Given the description of an element on the screen output the (x, y) to click on. 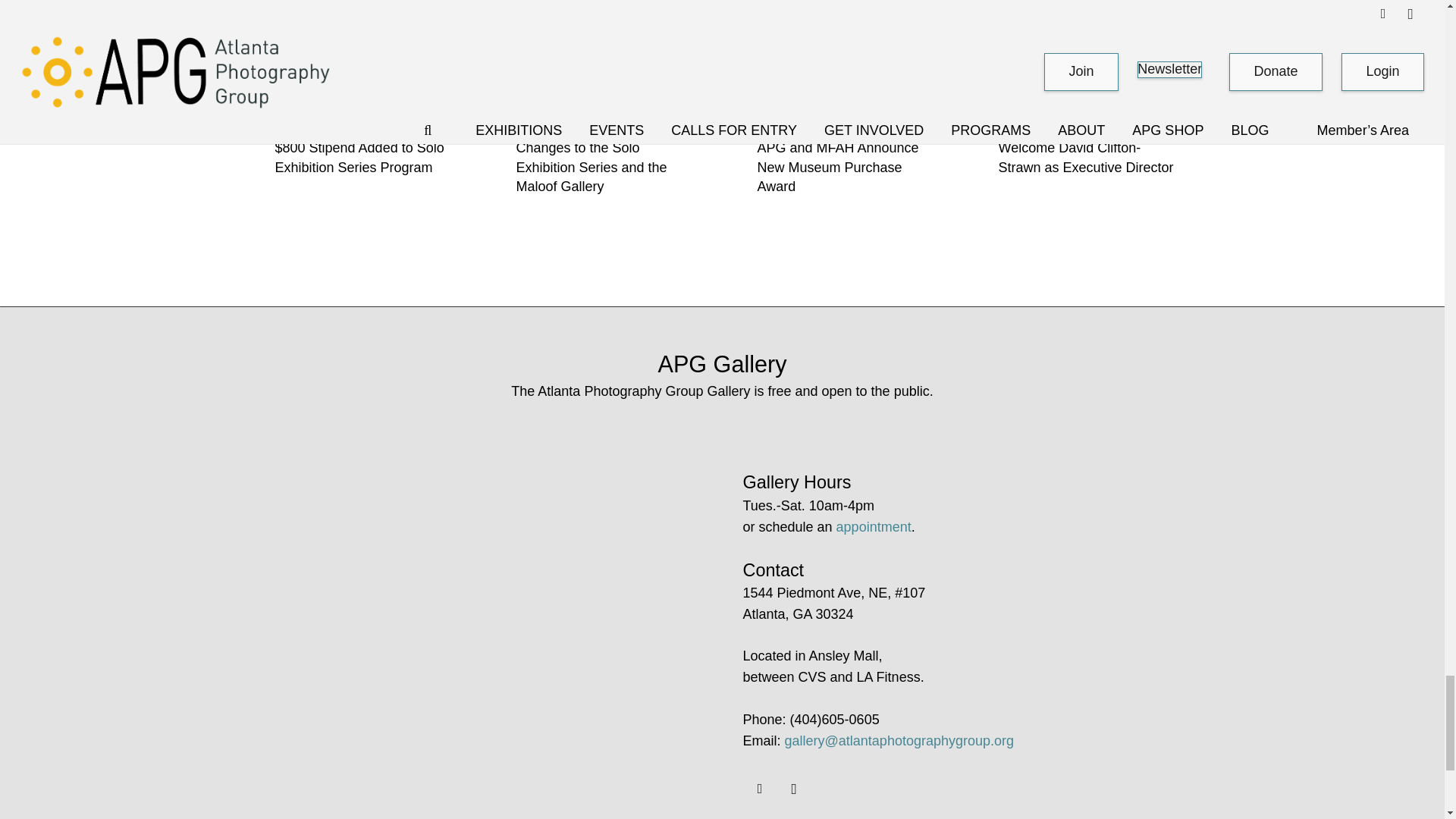
Instagram (793, 788)
Facebook (759, 788)
